Given the description of an element on the screen output the (x, y) to click on. 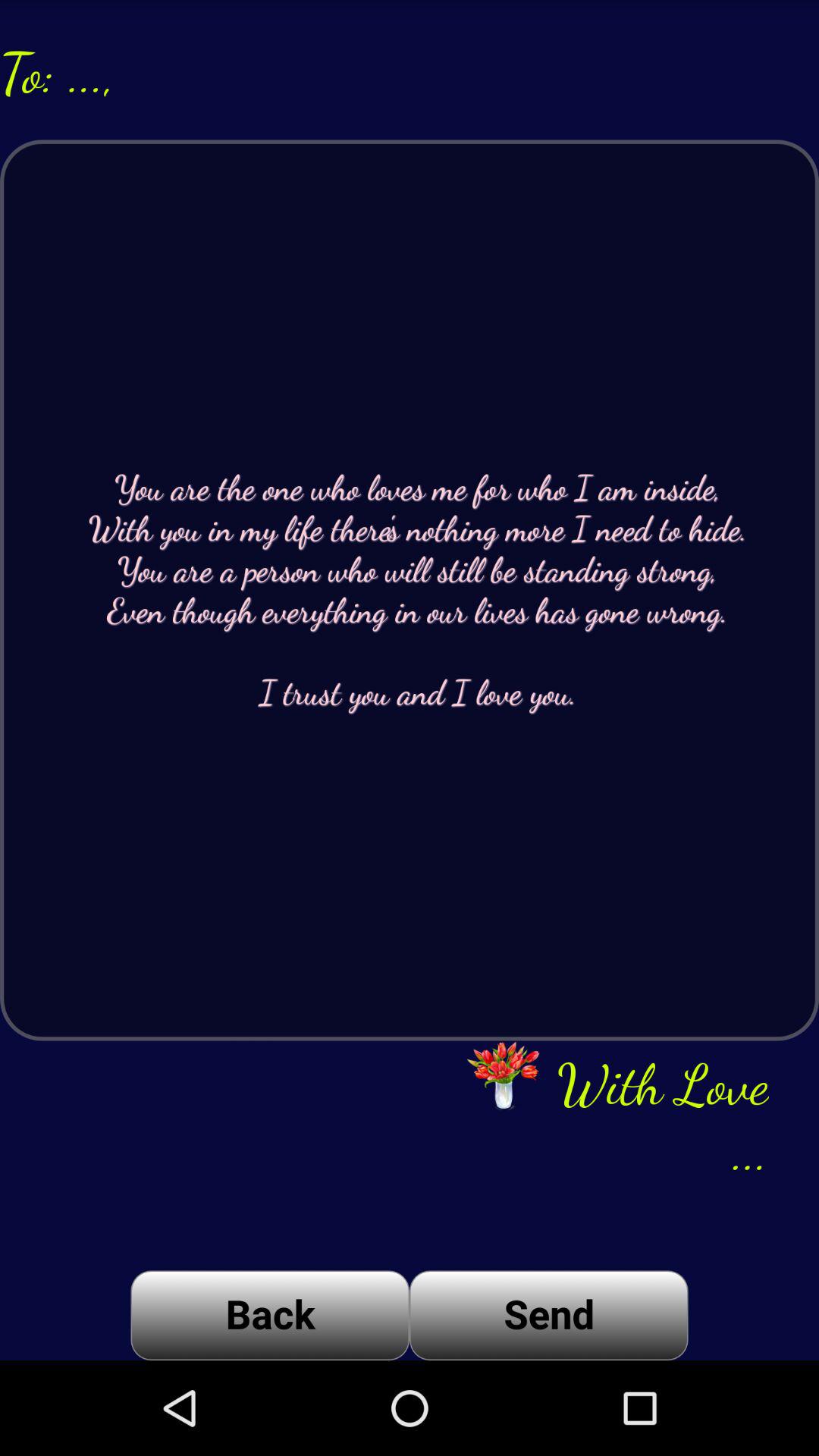
press button at the bottom left corner (269, 1315)
